Given the description of an element on the screen output the (x, y) to click on. 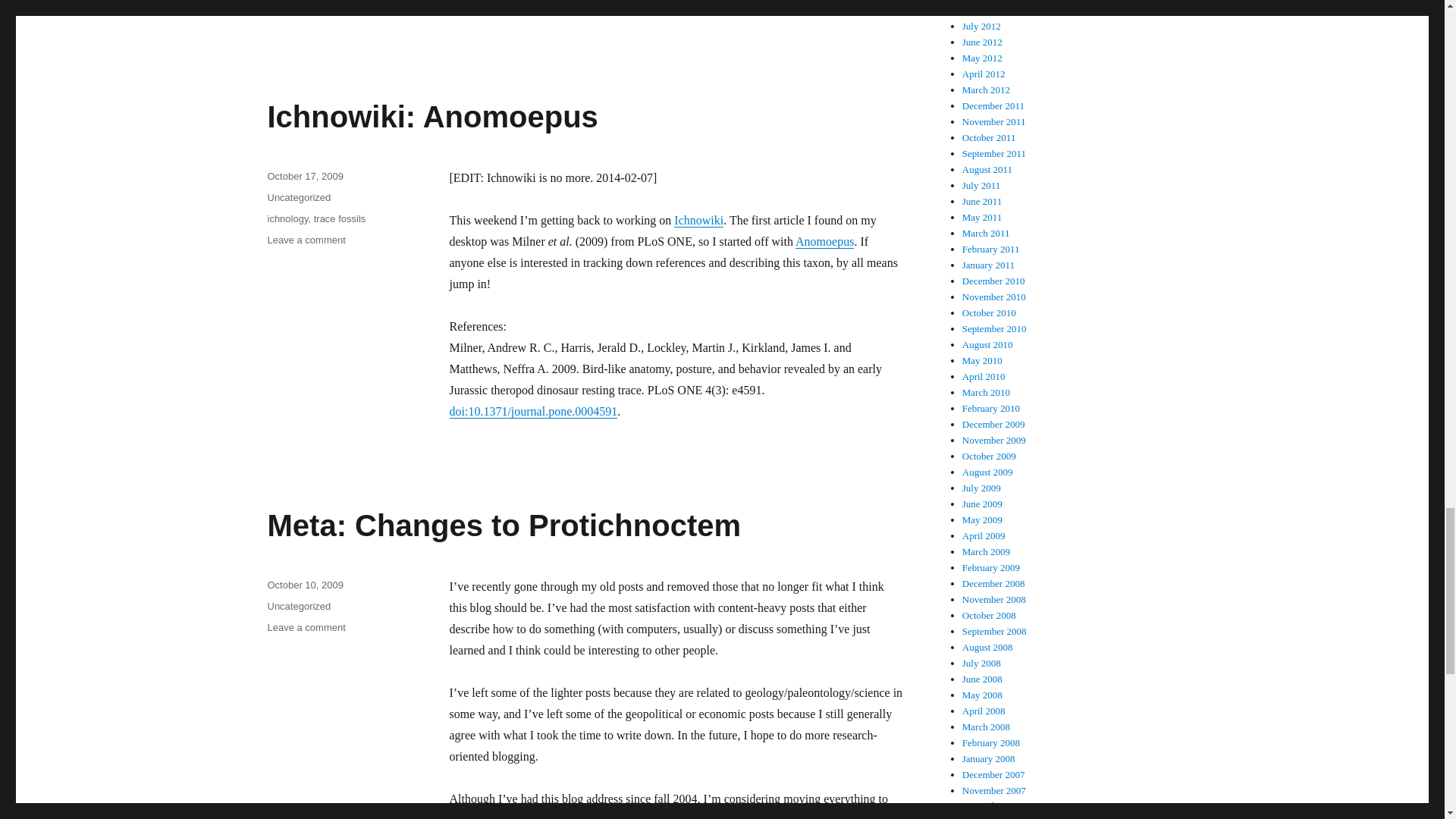
ichnology (286, 218)
October 17, 2009 (304, 175)
Anomoepus (823, 241)
trace fossils (340, 218)
Meta: Changes to Protichnoctem (503, 525)
October 10, 2009 (304, 584)
www.protichnoctem.com (825, 816)
Ichnowiki (305, 239)
Ichnowiki: Anomoepus (698, 219)
